Given the description of an element on the screen output the (x, y) to click on. 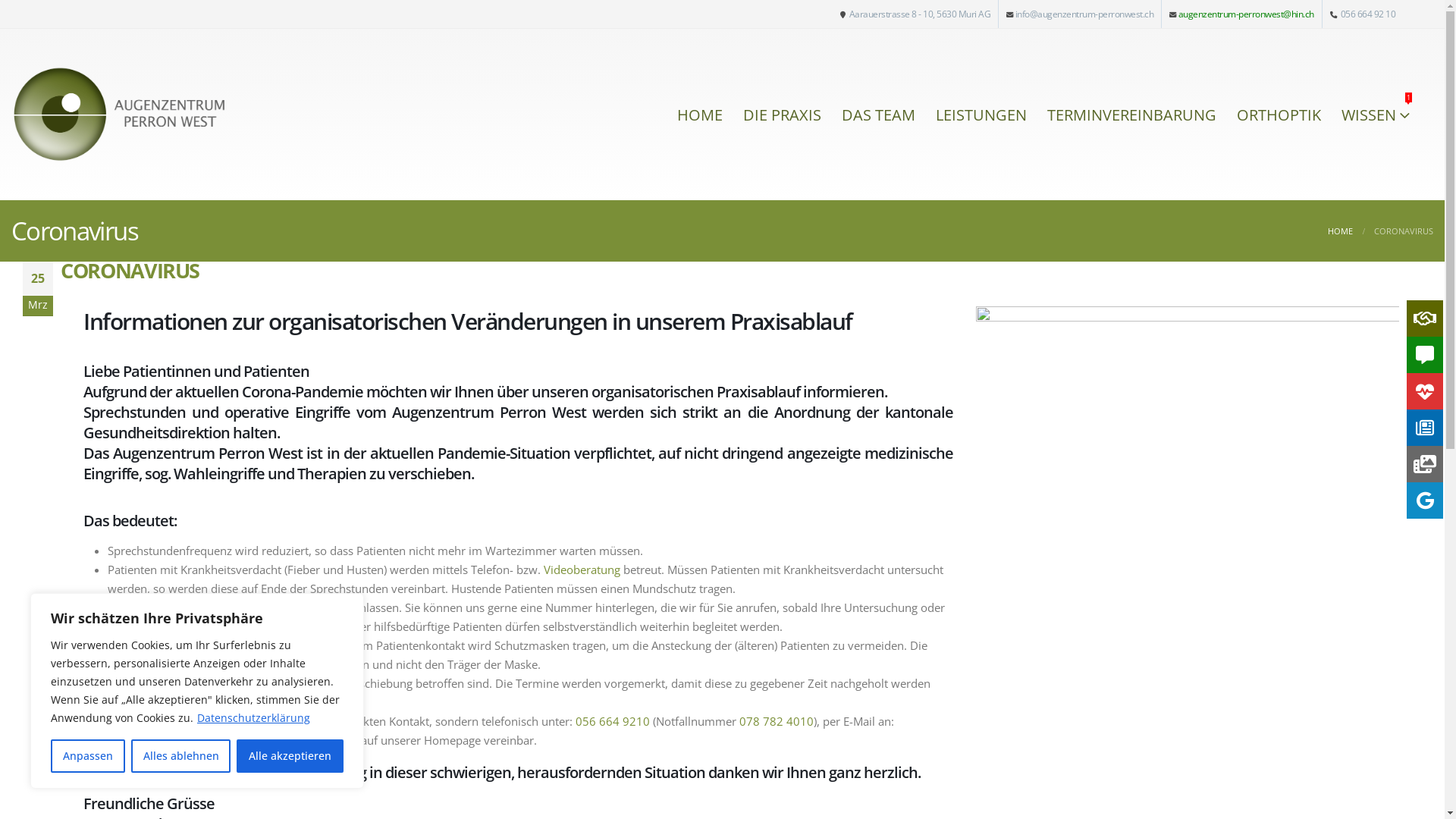
info@augenzentrum-perronwest.ch Element type: text (199, 739)
info@augenzentrum-perronwest.ch Element type: text (1079, 14)
WISSEN
1 Element type: text (1375, 114)
056 664 9210 Element type: text (612, 720)
HOME Element type: text (1339, 230)
078 782 4010 Element type: text (776, 720)
Videoberatung Element type: text (581, 569)
056 664 92 10 Element type: text (1368, 13)
augenzentrum-perronwest@hin.ch Element type: text (1241, 14)
DAS TEAM Element type: text (878, 114)
HOME Element type: text (699, 114)
LEISTUNGEN Element type: text (980, 114)
Aarauerstrasse 8 - 10, 5630 Muri AG Element type: text (915, 14)
Online Element type: text (340, 739)
virobuster Element type: hover (1187, 395)
DIE PRAXIS Element type: text (782, 114)
ORTHOPTIK Element type: text (1278, 114)
TERMINVEREINBARUNG Element type: text (1131, 114)
